Given the description of an element on the screen output the (x, y) to click on. 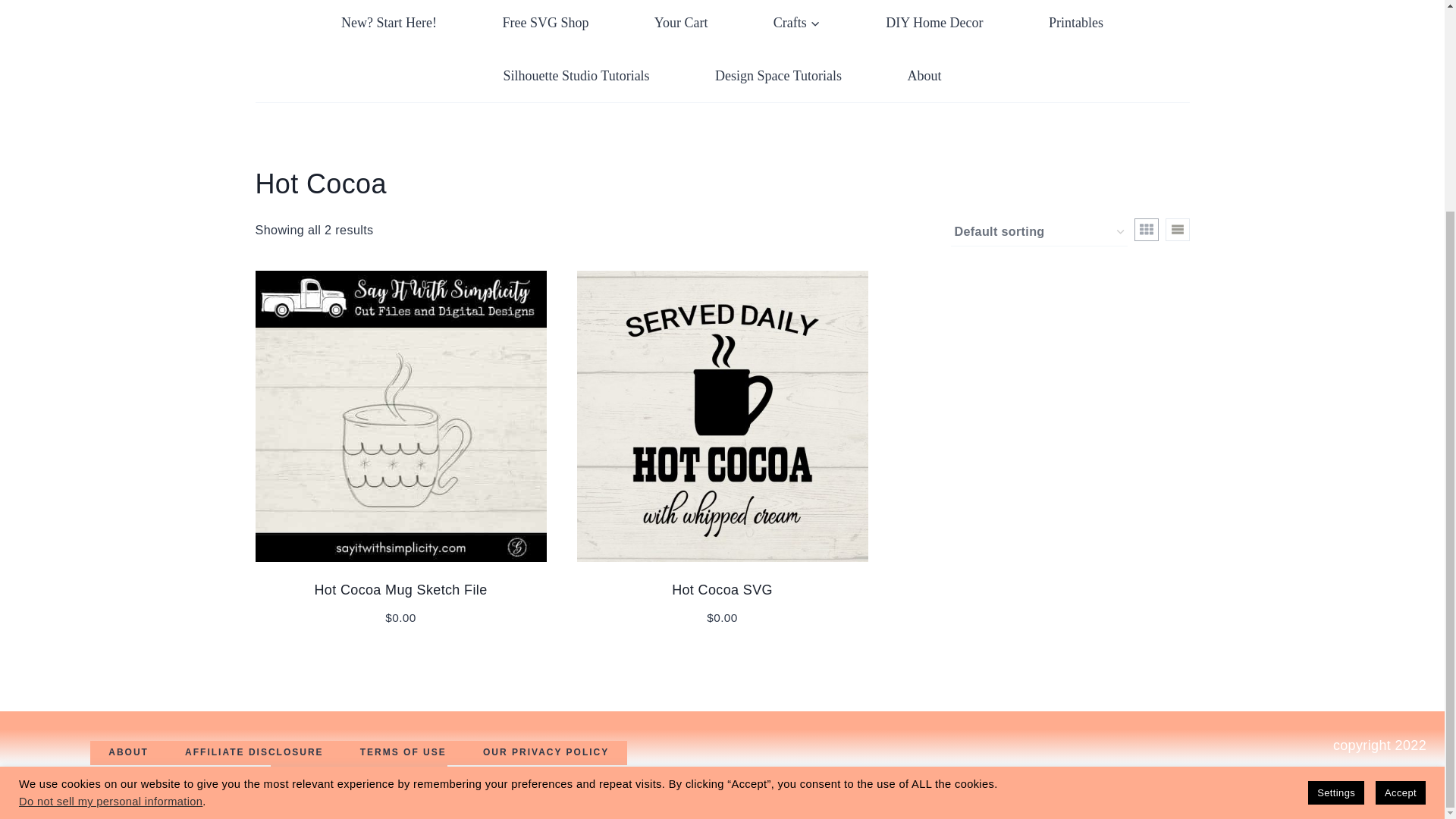
Free SVG Shop (544, 24)
Hot Cocoa SVG (722, 589)
New? Start Here! (388, 24)
List View (1176, 229)
DIY Home Decor (934, 24)
Your Cart (681, 24)
Printables (1075, 24)
Grid View (1146, 229)
Design Space Tutorials (778, 75)
Silhouette Studio Tutorials (575, 75)
